Given the description of an element on the screen output the (x, y) to click on. 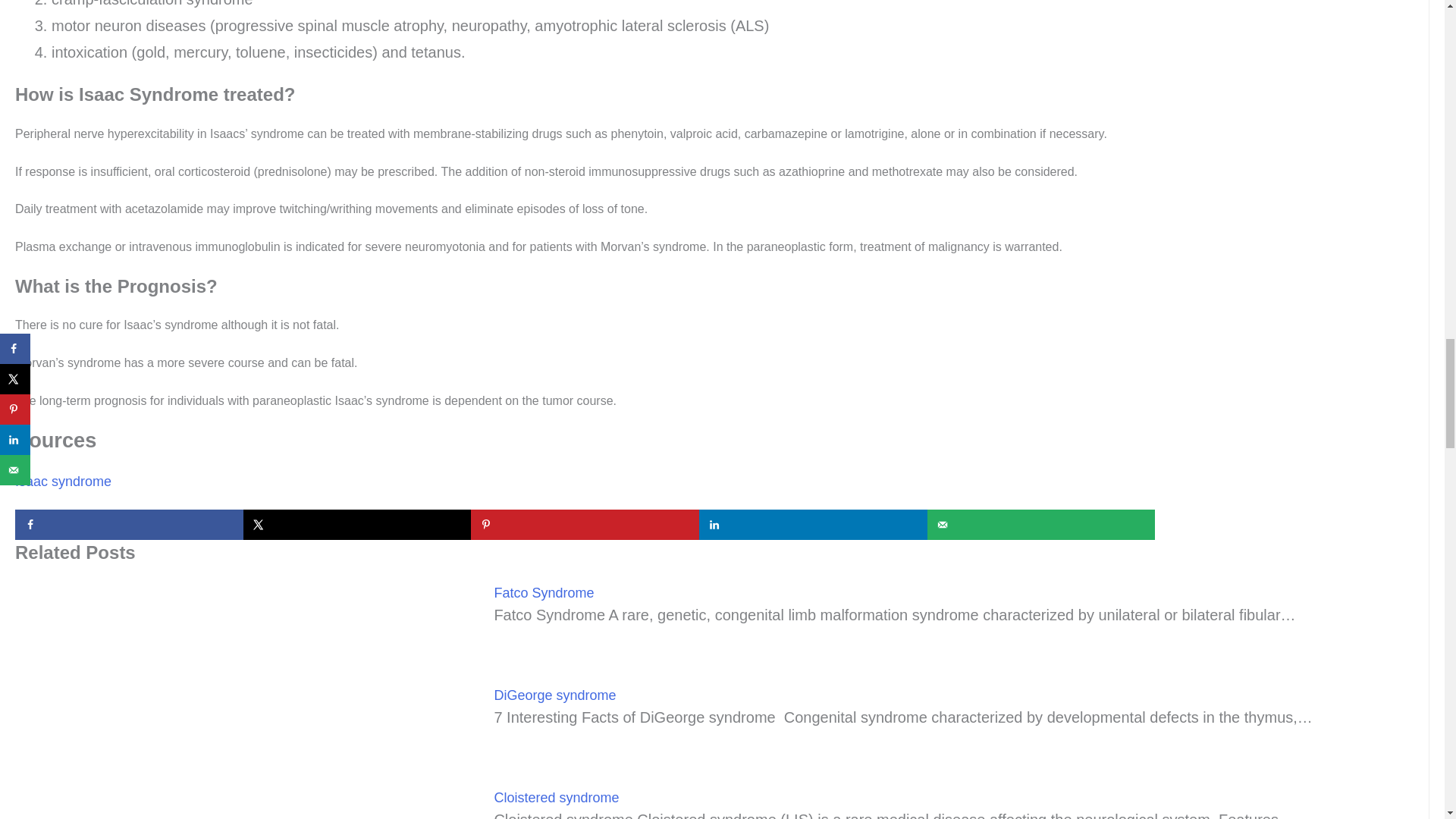
Share on X (357, 524)
Share on LinkedIn (812, 524)
Send over email (1041, 524)
Share on Facebook (128, 524)
Fatco Syndrome (543, 592)
Save to Pinterest (584, 524)
Isaac syndrome (63, 481)
